Given the description of an element on the screen output the (x, y) to click on. 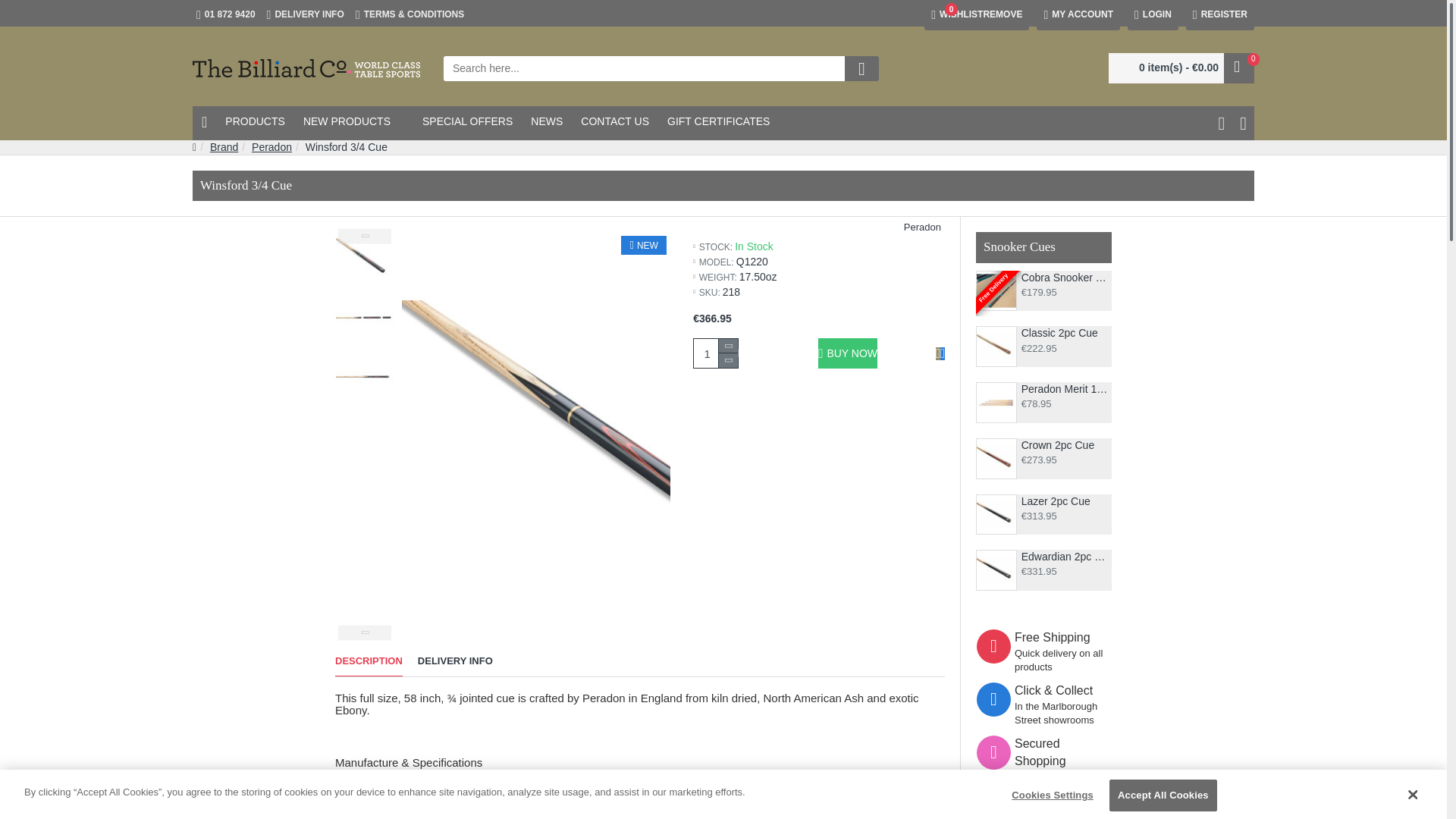
1 (716, 353)
The Billiard Company (306, 68)
REGISTER (1219, 15)
01 872 9420 (225, 15)
DELIVERY INFO (976, 15)
MY ACCOUNT (305, 15)
LOGIN (1077, 15)
PRODUCTS (1151, 15)
